Given the description of an element on the screen output the (x, y) to click on. 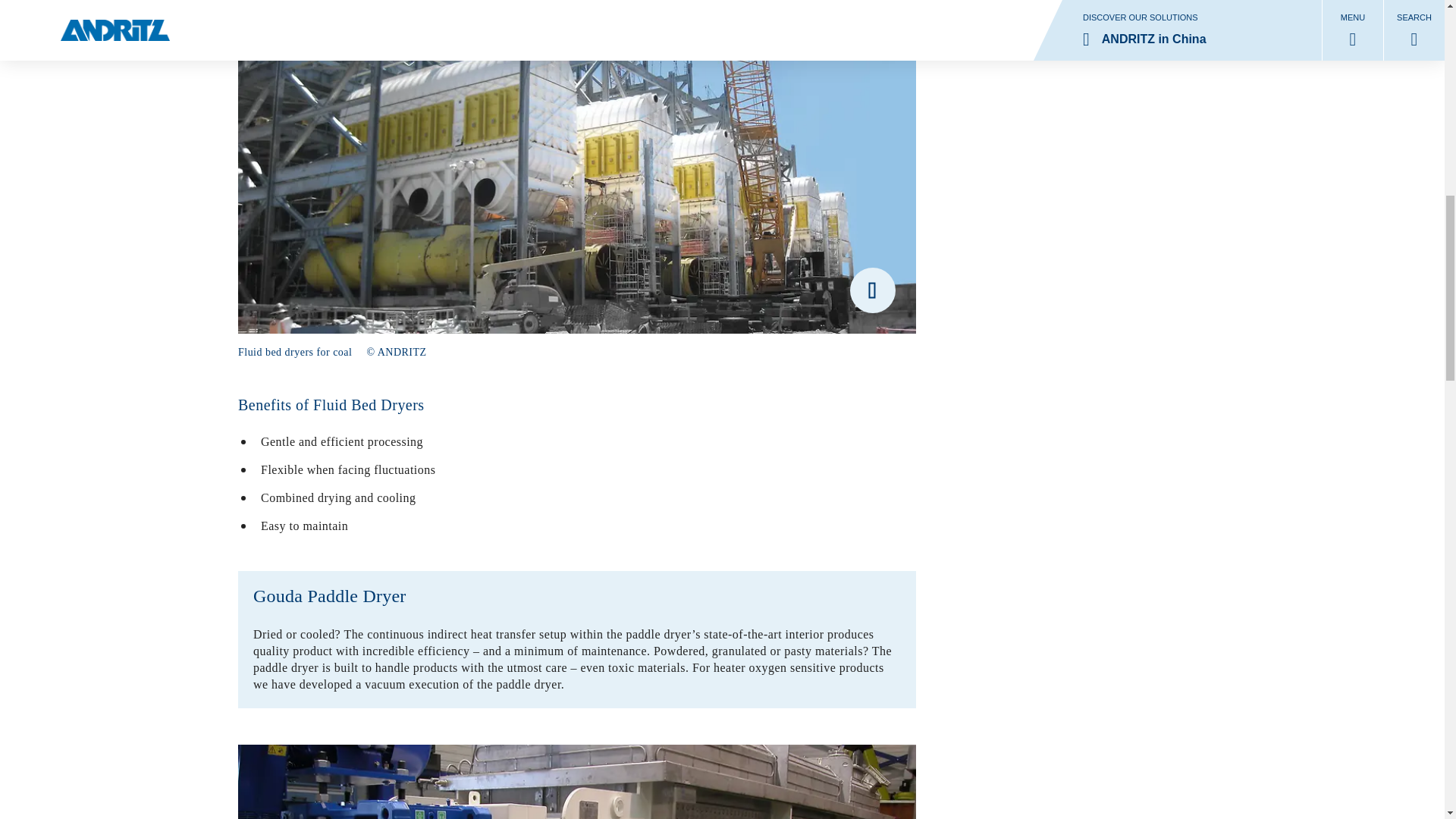
se-gouda-paddle-dryer (576, 781)
